Given the description of an element on the screen output the (x, y) to click on. 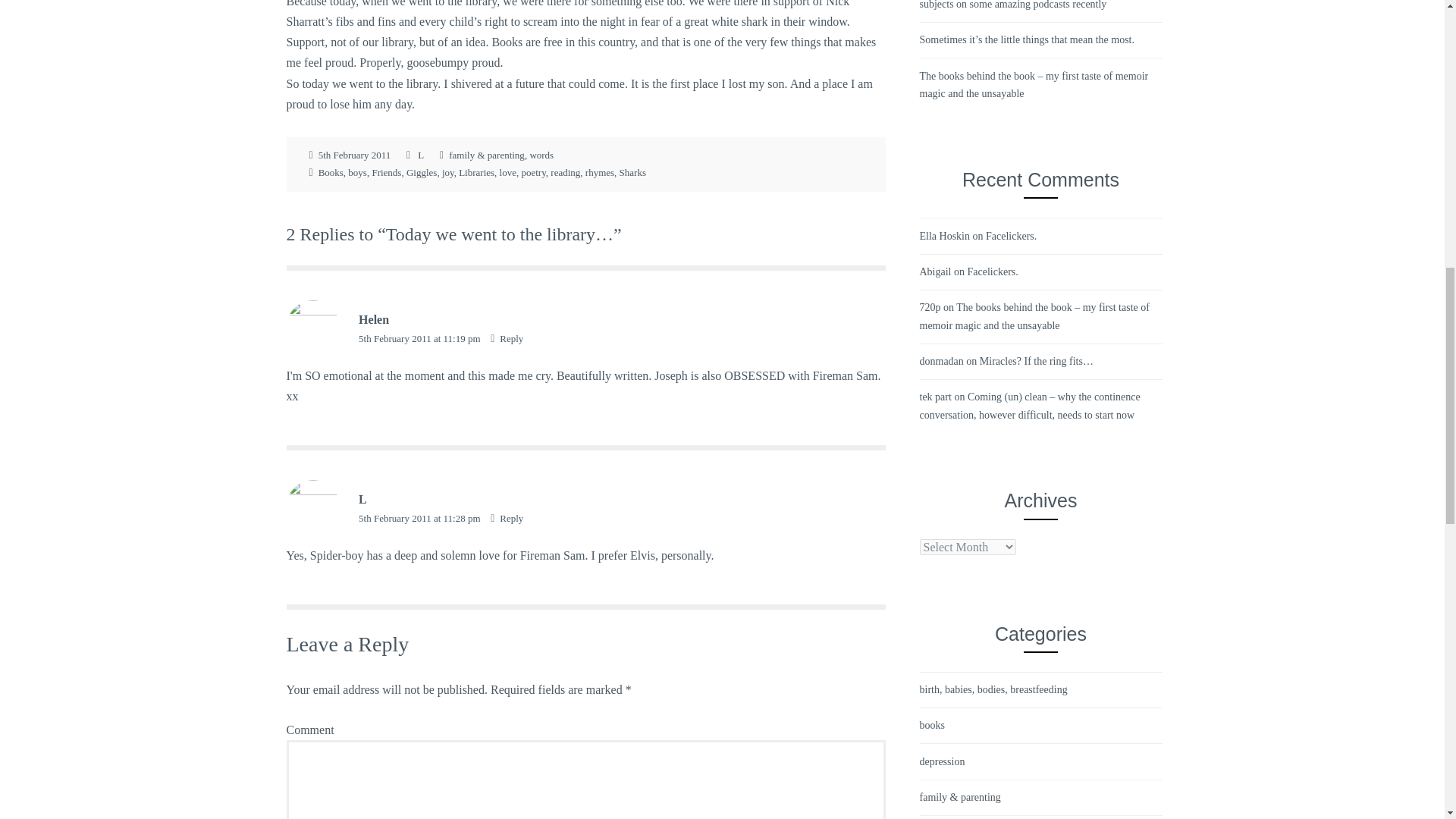
Friends (386, 173)
Sharks (633, 173)
Books (330, 173)
Helen (373, 318)
Giggles (421, 173)
Reply (506, 518)
boys (356, 173)
love (507, 173)
reading (564, 173)
rhymes (599, 173)
5th February 2011 at 11:19 pm (420, 337)
poetry (532, 173)
5th February 2011 at 11:28 pm (420, 518)
words (541, 155)
joy (448, 173)
